Given the description of an element on the screen output the (x, y) to click on. 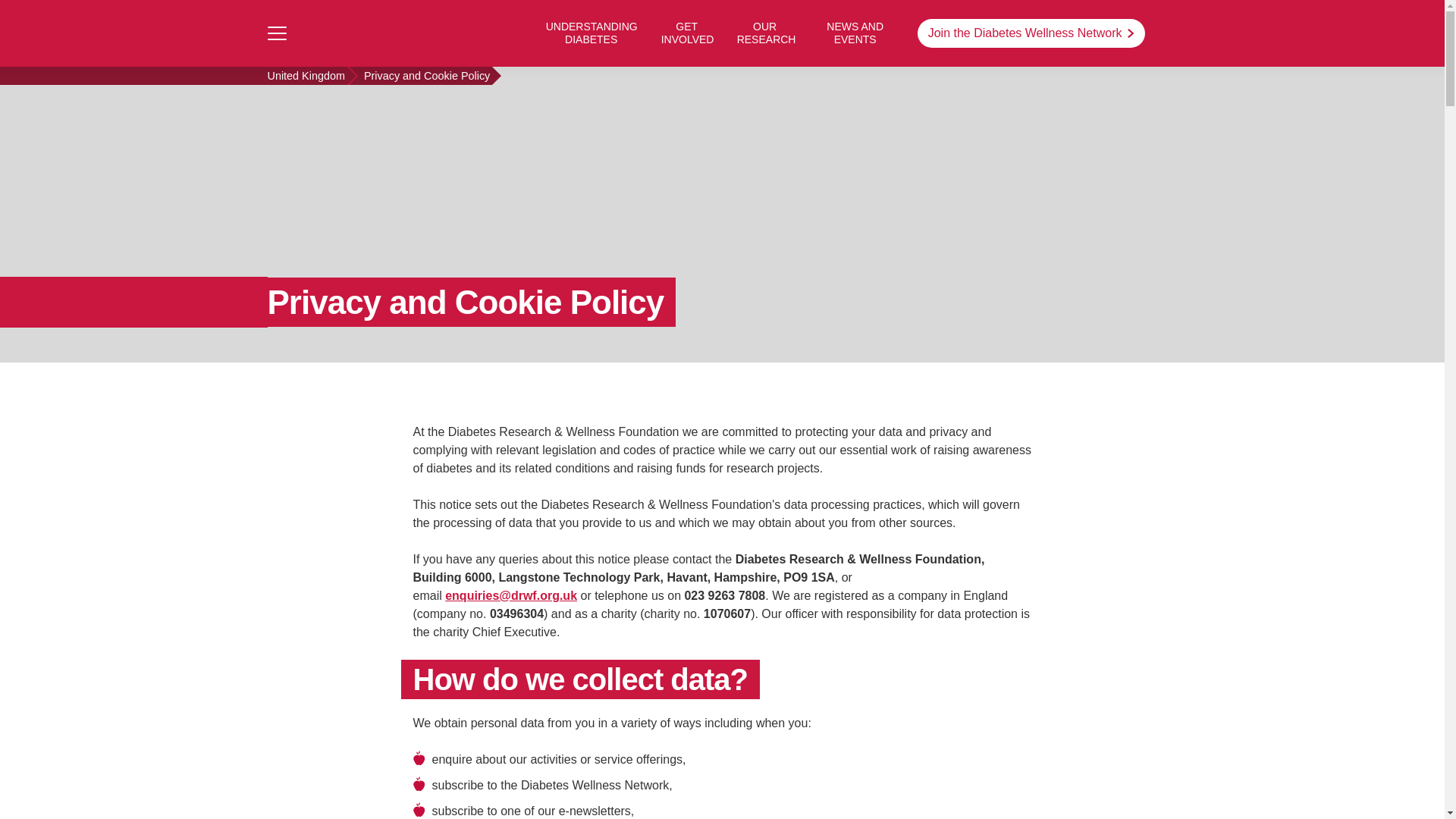
GET INVOLVED (687, 32)
Join the Diabetes Wellness Network (1030, 32)
NEWS AND EVENTS (854, 32)
UNDERSTANDING DIABETES (591, 32)
OUR RESEARCH (764, 32)
